Given the description of an element on the screen output the (x, y) to click on. 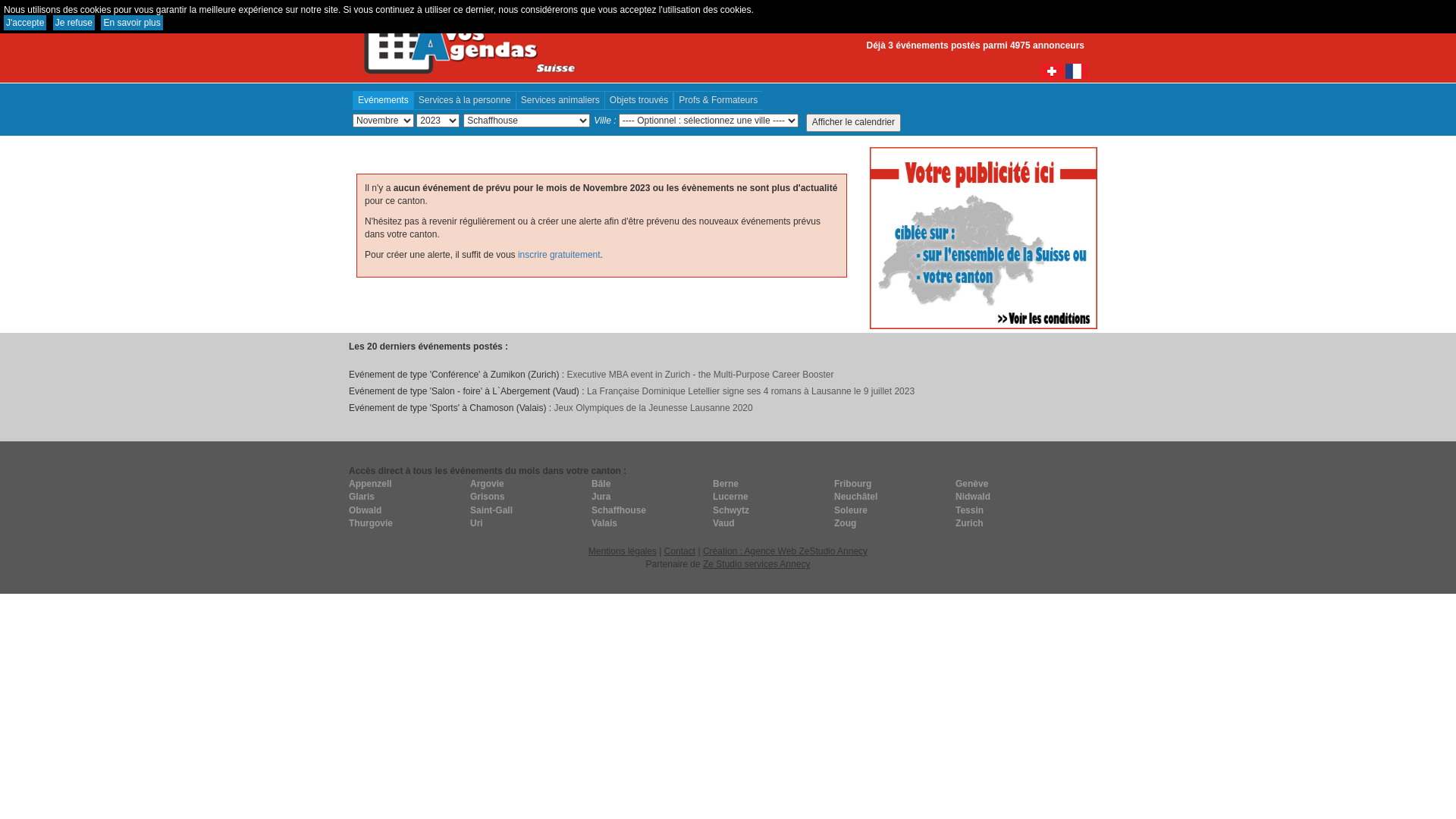
Zurich Element type: text (1012, 523)
Je refuse Element type: text (73, 22)
Schaffhouse Element type: text (648, 510)
Schwytz Element type: text (769, 510)
Grisons Element type: text (526, 496)
Afficher le calendrier Element type: text (853, 122)
Tessin Element type: text (1012, 510)
Zoug Element type: text (890, 523)
Obwald Element type: text (405, 510)
Glaris Element type: text (405, 496)
Ze Studio services Annecy Element type: text (755, 563)
inscrire gratuitement Element type: text (558, 254)
Uri Element type: text (526, 523)
Jura Element type: text (648, 496)
Contact Element type: text (679, 551)
Fribourg Element type: text (890, 483)
Vaud Element type: text (769, 523)
Appenzell Element type: text (405, 483)
Nidwald Element type: text (1012, 496)
J'accepte Element type: text (24, 22)
Soleure Element type: text (890, 510)
Profs & Formateurs Element type: text (717, 100)
Lucerne Element type: text (769, 496)
Services animaliers Element type: text (559, 100)
Saint-Gall Element type: text (526, 510)
Connexion Element type: text (1066, 13)
Valais Element type: text (648, 523)
Thurgovie Element type: text (405, 523)
Jeux Olympiques de la Jeunesse Lausanne 2020 Element type: text (652, 407)
Berne Element type: text (769, 483)
En savoir plus Element type: text (131, 22)
Argovie Element type: text (526, 483)
